Given the description of an element on the screen output the (x, y) to click on. 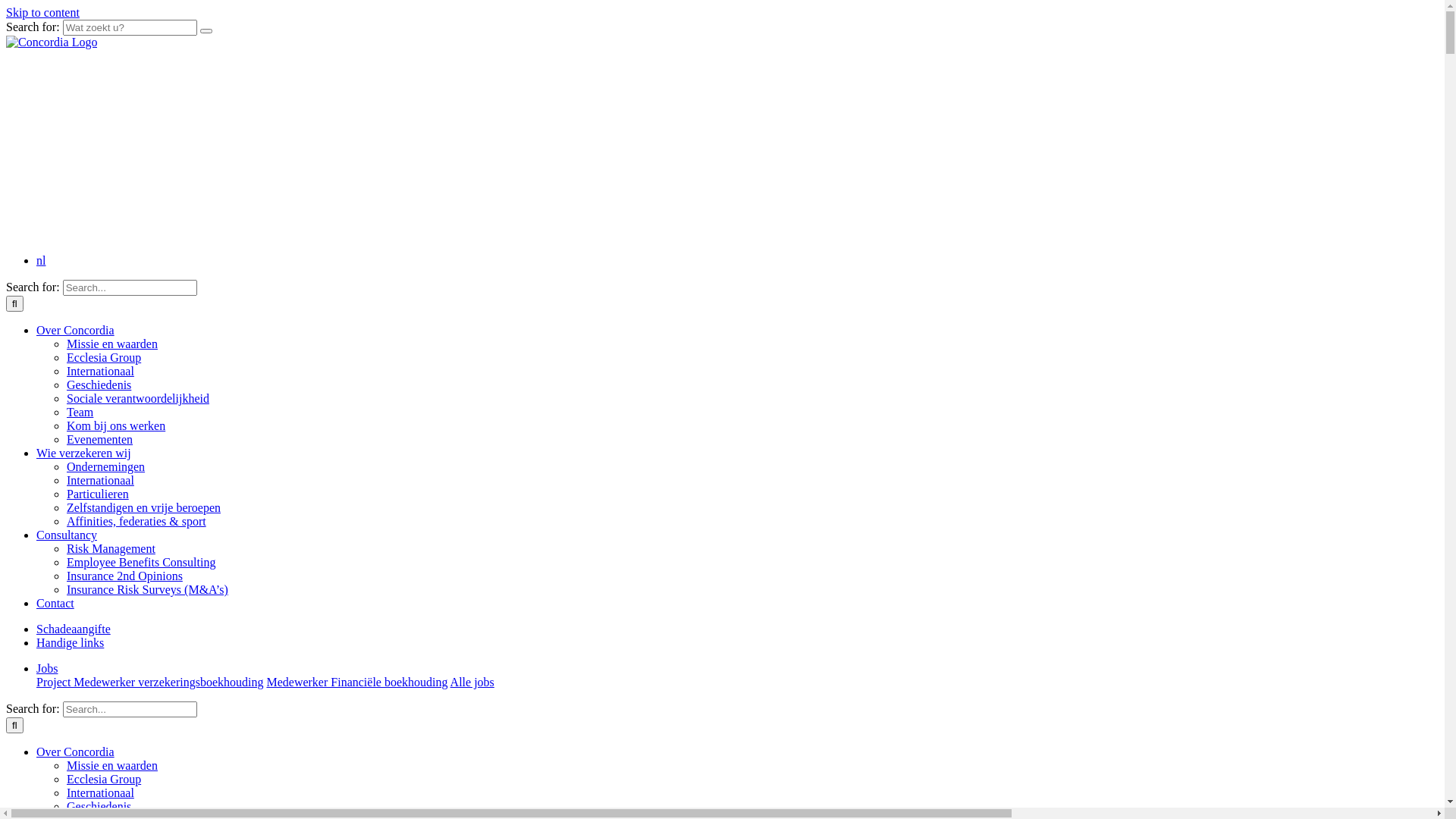
Evenementen Element type: text (99, 439)
Alle jobs Element type: text (472, 681)
Affinities, federaties & sport Element type: text (136, 520)
Wie verzekeren wij Element type: text (83, 452)
Over Concordia Element type: text (75, 329)
Over Concordia Element type: text (75, 751)
Employee Benefits Consulting Element type: text (140, 561)
Team Element type: text (79, 411)
Project Medewerker verzekeringsboekhouding Element type: text (149, 681)
Sociale verantwoordelijkheid Element type: text (137, 398)
Internationaal Element type: text (100, 370)
Insurance 2nd Opinions Element type: text (124, 575)
Geschiedenis Element type: text (98, 384)
Ecclesia Group Element type: text (103, 357)
Particulieren Element type: text (97, 493)
Risk Management Element type: text (110, 548)
Ondernemingen Element type: text (105, 466)
Missie en waarden Element type: text (111, 343)
Geschiedenis Element type: text (98, 806)
Consultancy Element type: text (66, 534)
Missie en waarden Element type: text (111, 765)
Schadeaangifte Element type: text (73, 628)
Internationaal Element type: text (100, 792)
Contact Element type: text (55, 602)
Zelfstandigen en vrije beroepen Element type: text (143, 507)
Kom bij ons werken Element type: text (115, 425)
Jobs Element type: text (46, 668)
Skip to content Element type: text (42, 12)
nl Element type: text (40, 260)
Handige links Element type: text (69, 642)
Internationaal Element type: text (100, 479)
Ecclesia Group Element type: text (103, 778)
